Given the description of an element on the screen output the (x, y) to click on. 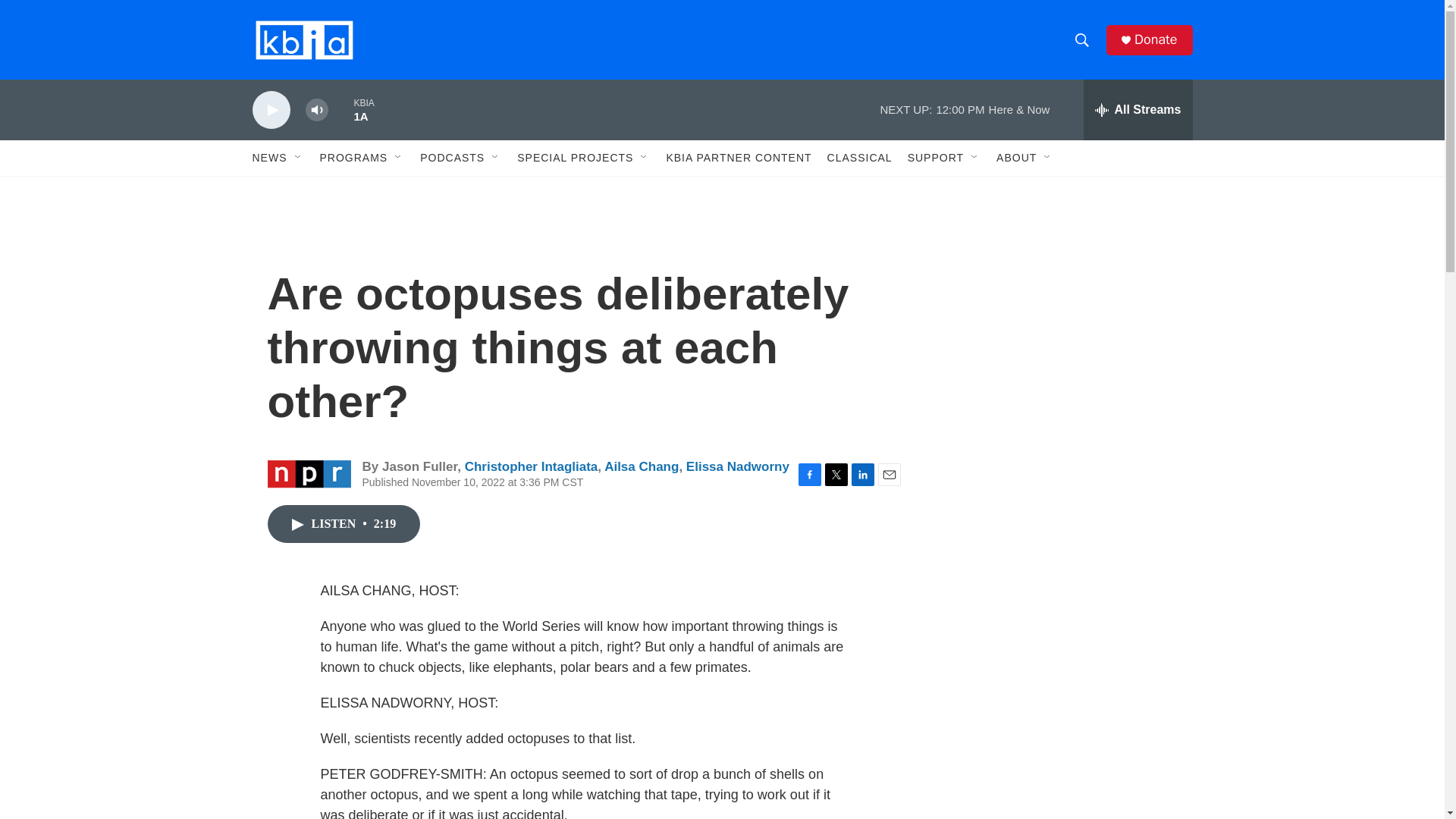
3rd party ad content (1062, 740)
3rd party ad content (1062, 536)
3rd party ad content (1062, 316)
